Given the description of an element on the screen output the (x, y) to click on. 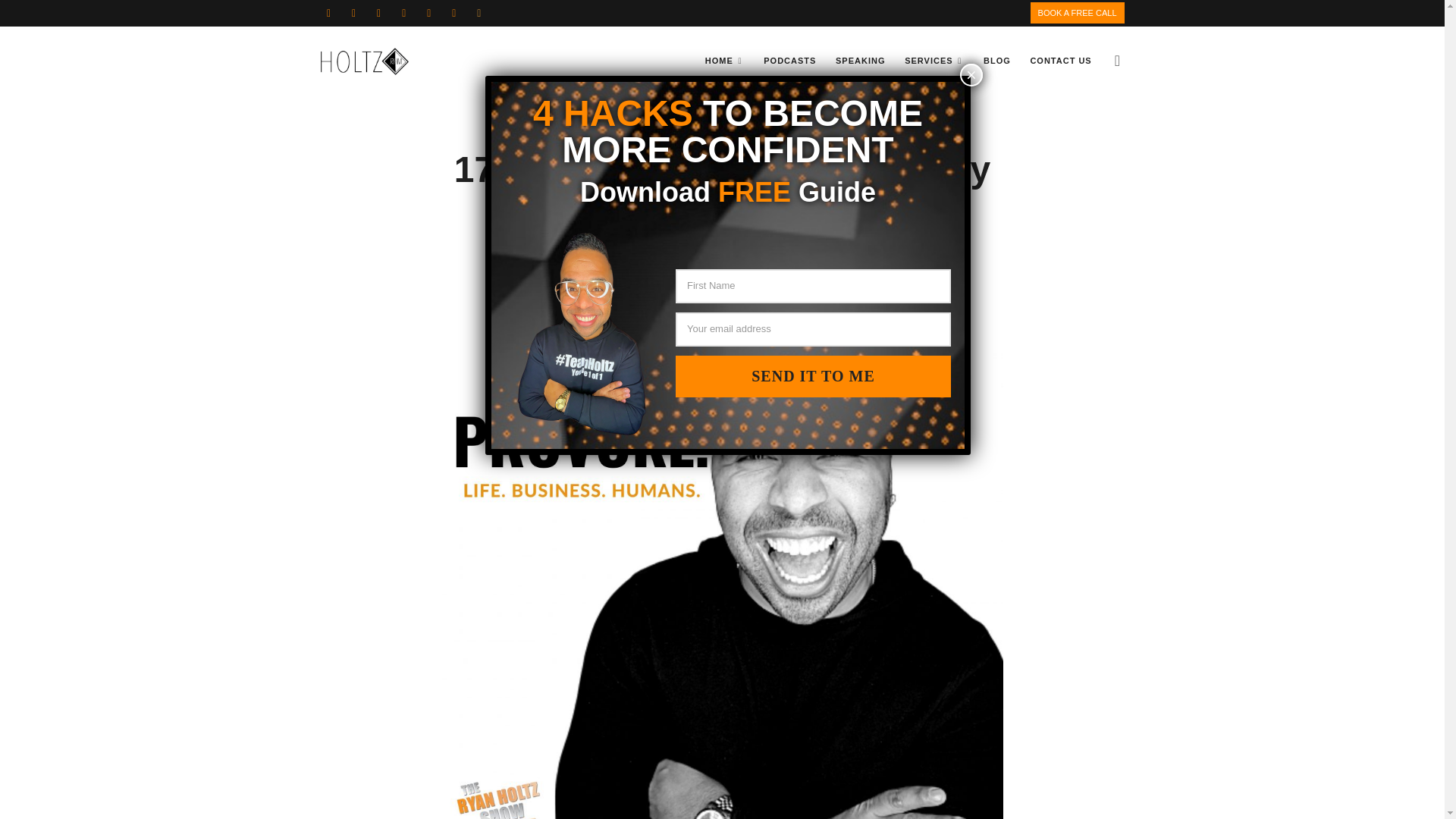
BOOK A FREE CALL (1077, 12)
snapchat (428, 12)
PODCASTS (789, 60)
CONTACT US (1060, 60)
facebook (328, 12)
apple (454, 12)
youtube (403, 12)
twitter (354, 12)
instagram (379, 12)
Send it to Me (812, 376)
SERVICES (933, 60)
spotify (479, 12)
